Given the description of an element on the screen output the (x, y) to click on. 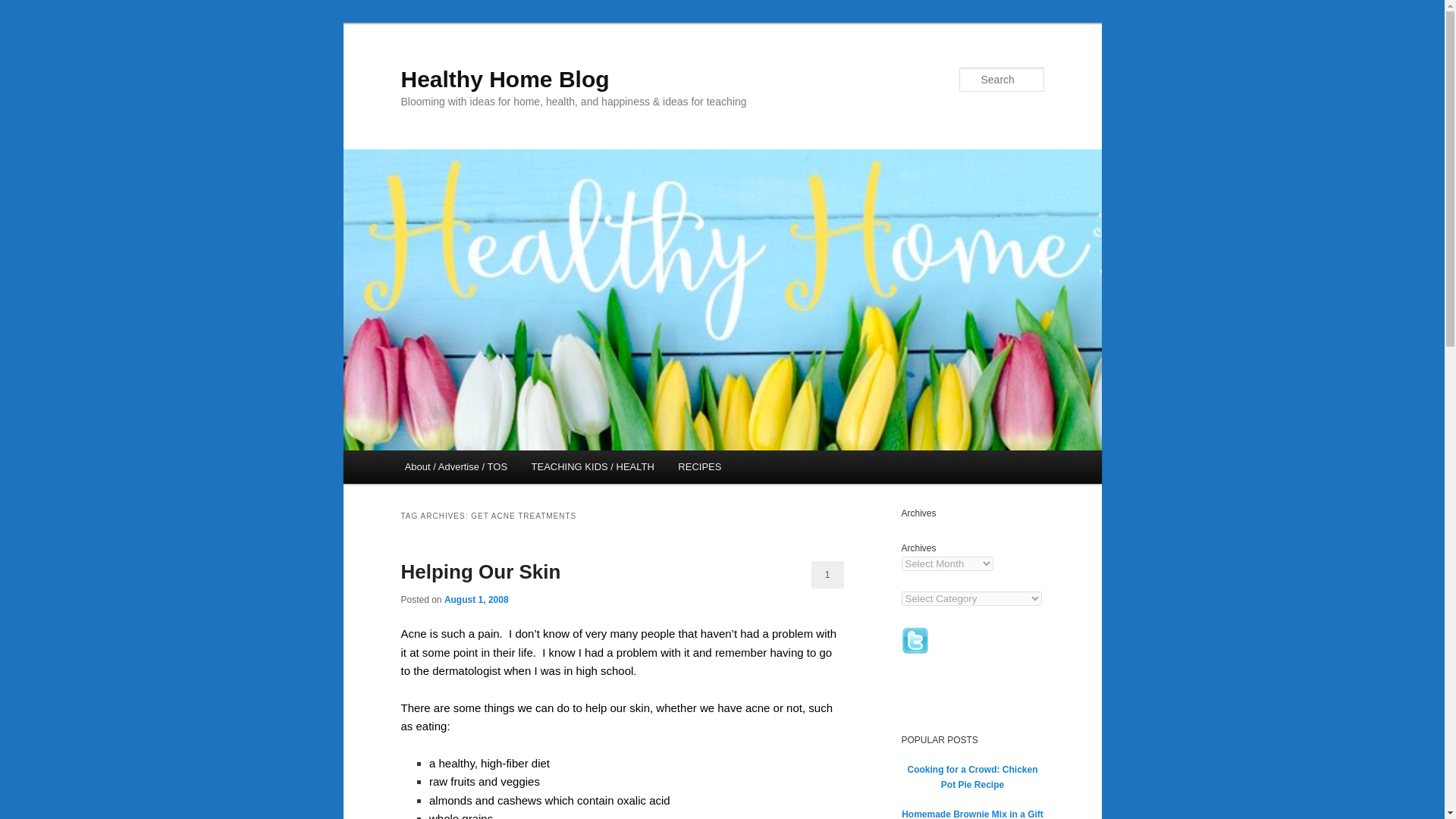
Healthy Home Blog (504, 78)
RECIPES (699, 466)
Cooking for a Crowd: Chicken Pot Pie Recipe (971, 777)
Search (24, 8)
Homemade Brownie Mix in a Gift Jar (972, 814)
6:16 pm (476, 599)
August 1, 2008 (476, 599)
Helping Our Skin (480, 571)
1 (827, 574)
